Given the description of an element on the screen output the (x, y) to click on. 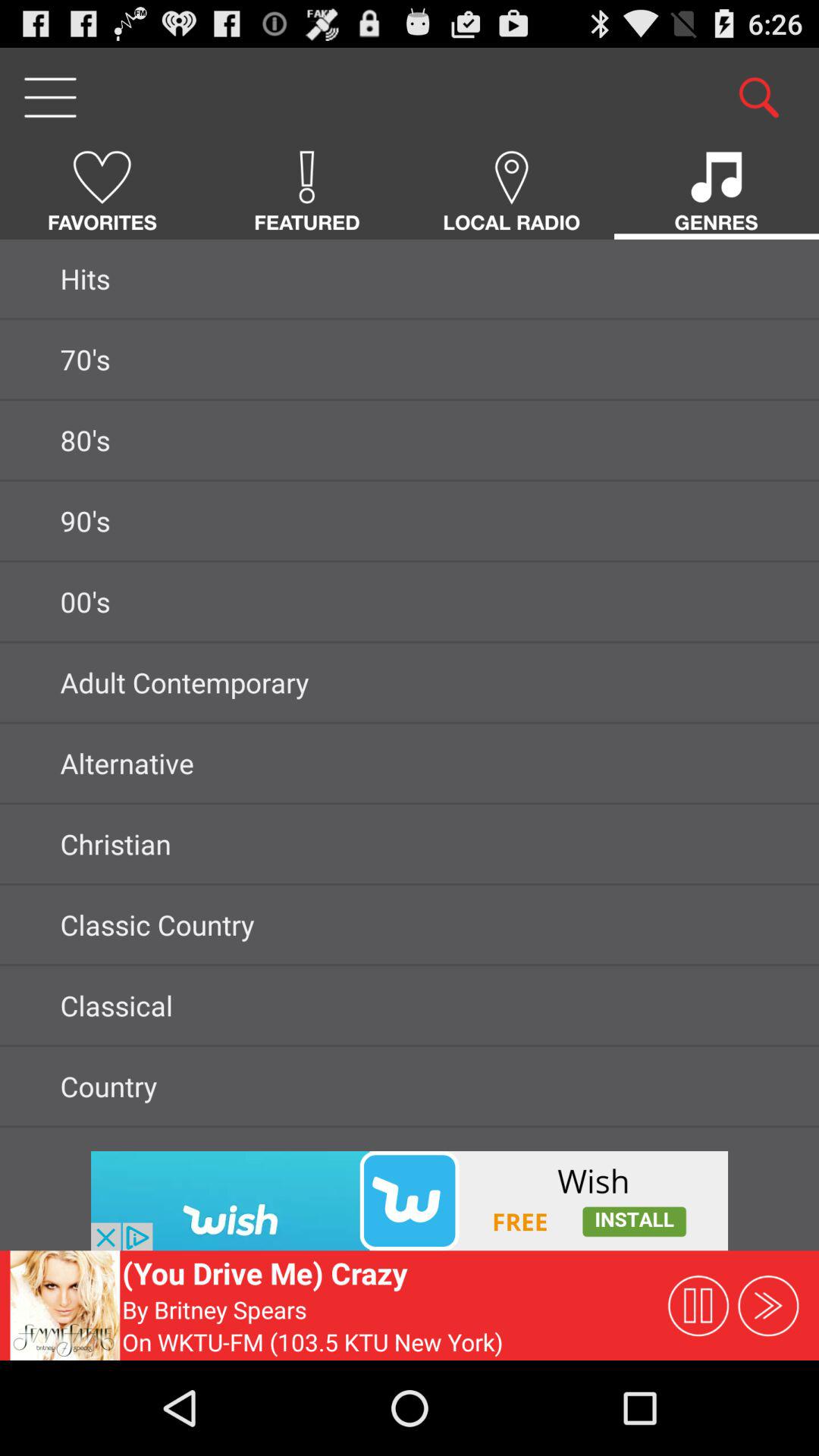
pause media (698, 1305)
